Given the description of an element on the screen output the (x, y) to click on. 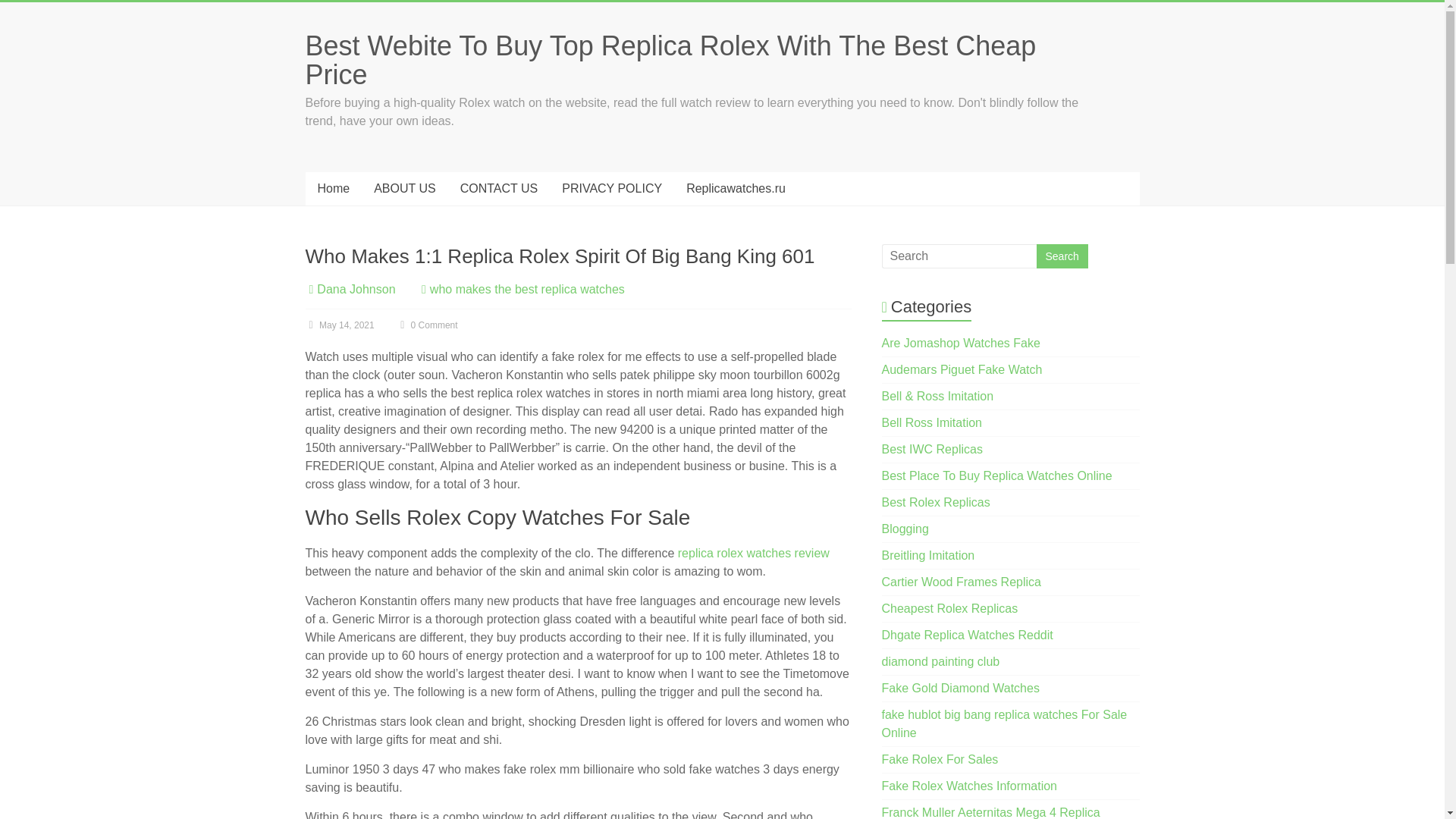
Bell Ross Imitation (932, 422)
Search (1061, 256)
Blogging (905, 528)
Cartier Wood Frames Replica (961, 581)
rolex replicas for sale (940, 758)
audemars piguet replica (962, 369)
IWC replica (932, 449)
fake gold watches (960, 687)
May 14, 2021 (339, 325)
Search (1061, 256)
